Given the description of an element on the screen output the (x, y) to click on. 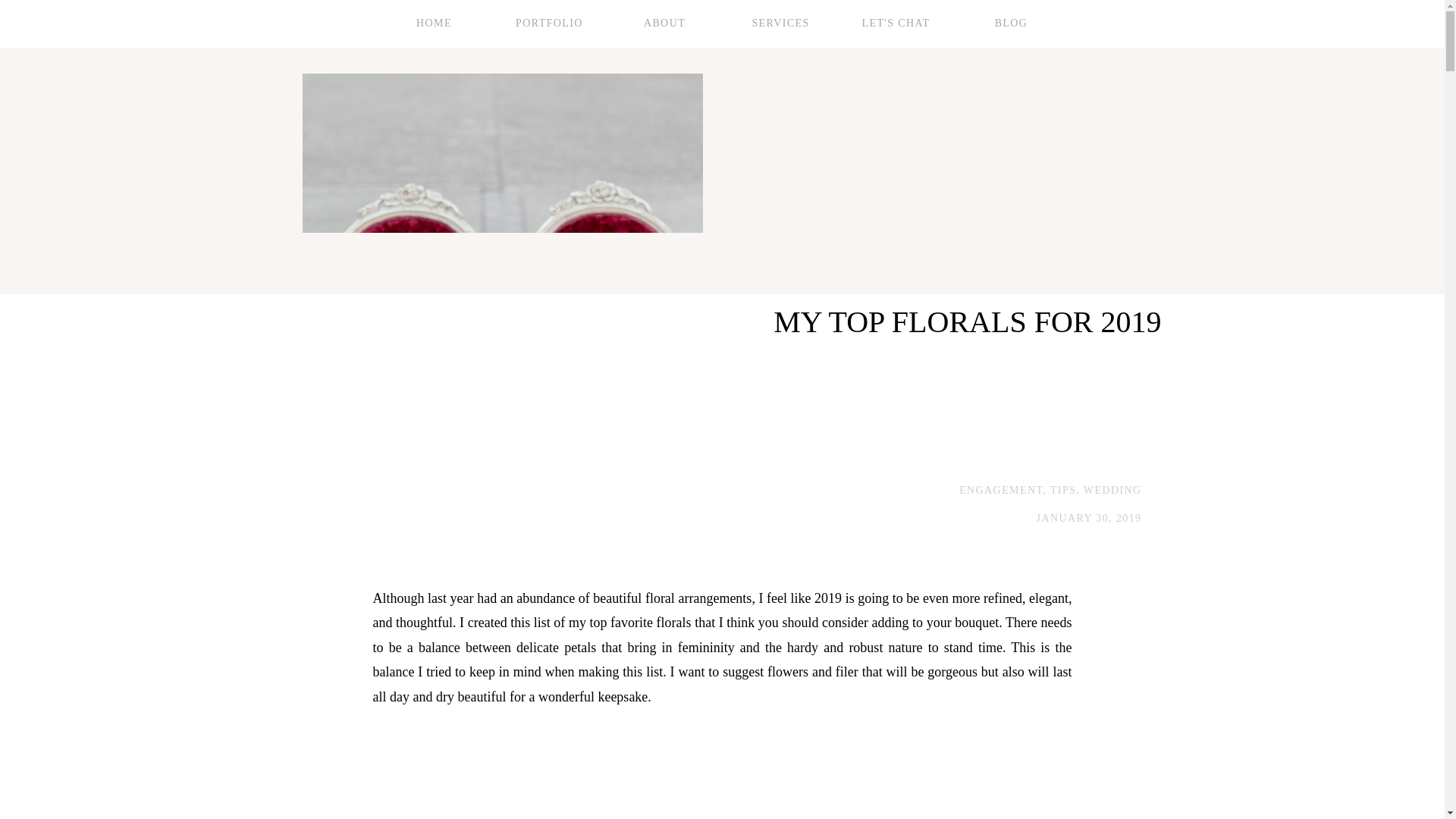
HOME (434, 24)
LET'S CHAT (895, 24)
WEDDING (1112, 490)
ABOUT (664, 24)
PORTFOLIO (549, 24)
BLOG (1010, 24)
SERVICES (779, 24)
ENGAGEMENT (1000, 490)
TIPS (1062, 490)
